Given the description of an element on the screen output the (x, y) to click on. 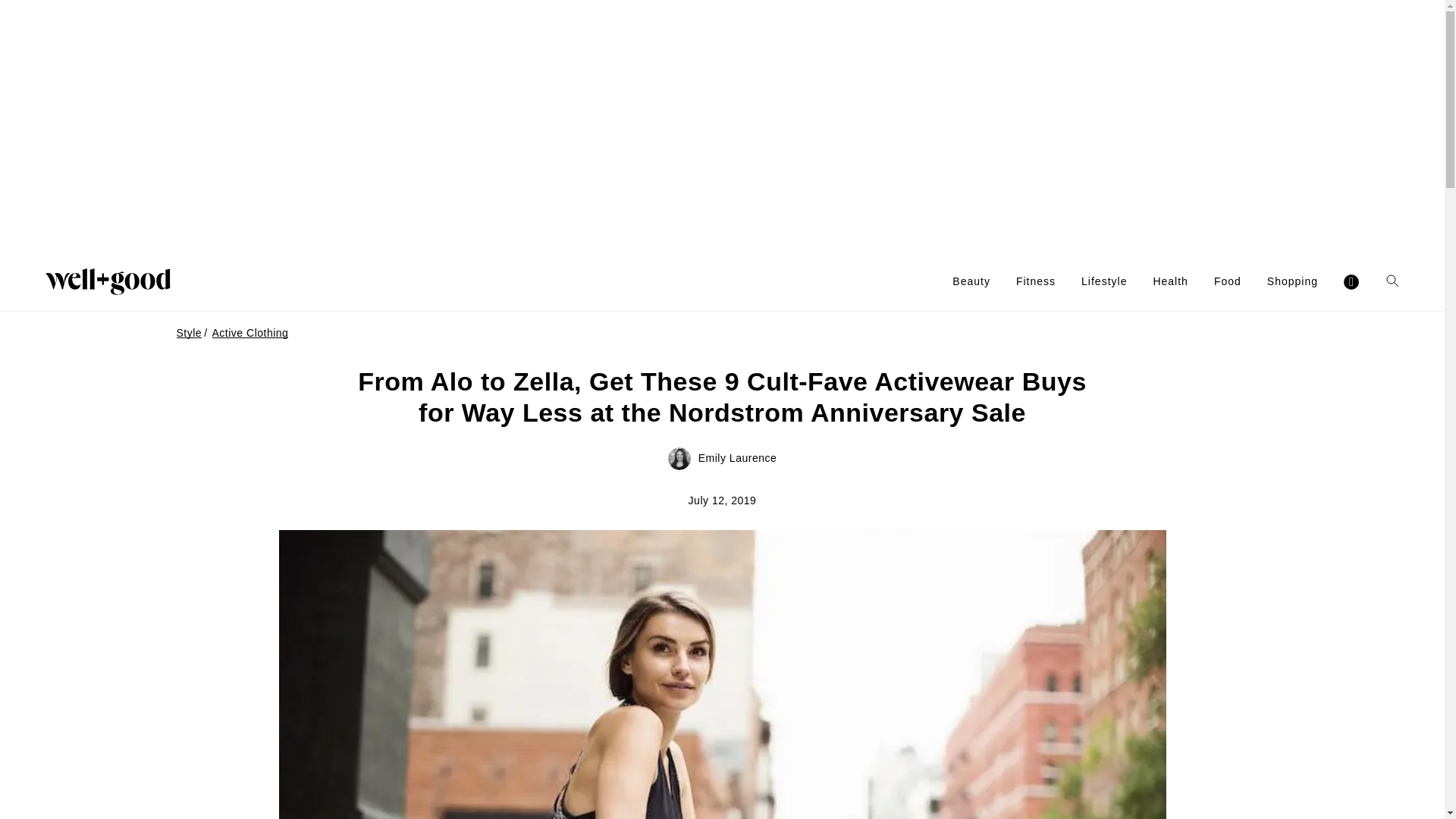
Lifestyle (1103, 281)
Beauty (971, 281)
Health (1170, 281)
Food (1227, 281)
Shopping (1291, 281)
Fitness (1035, 281)
